Given the description of an element on the screen output the (x, y) to click on. 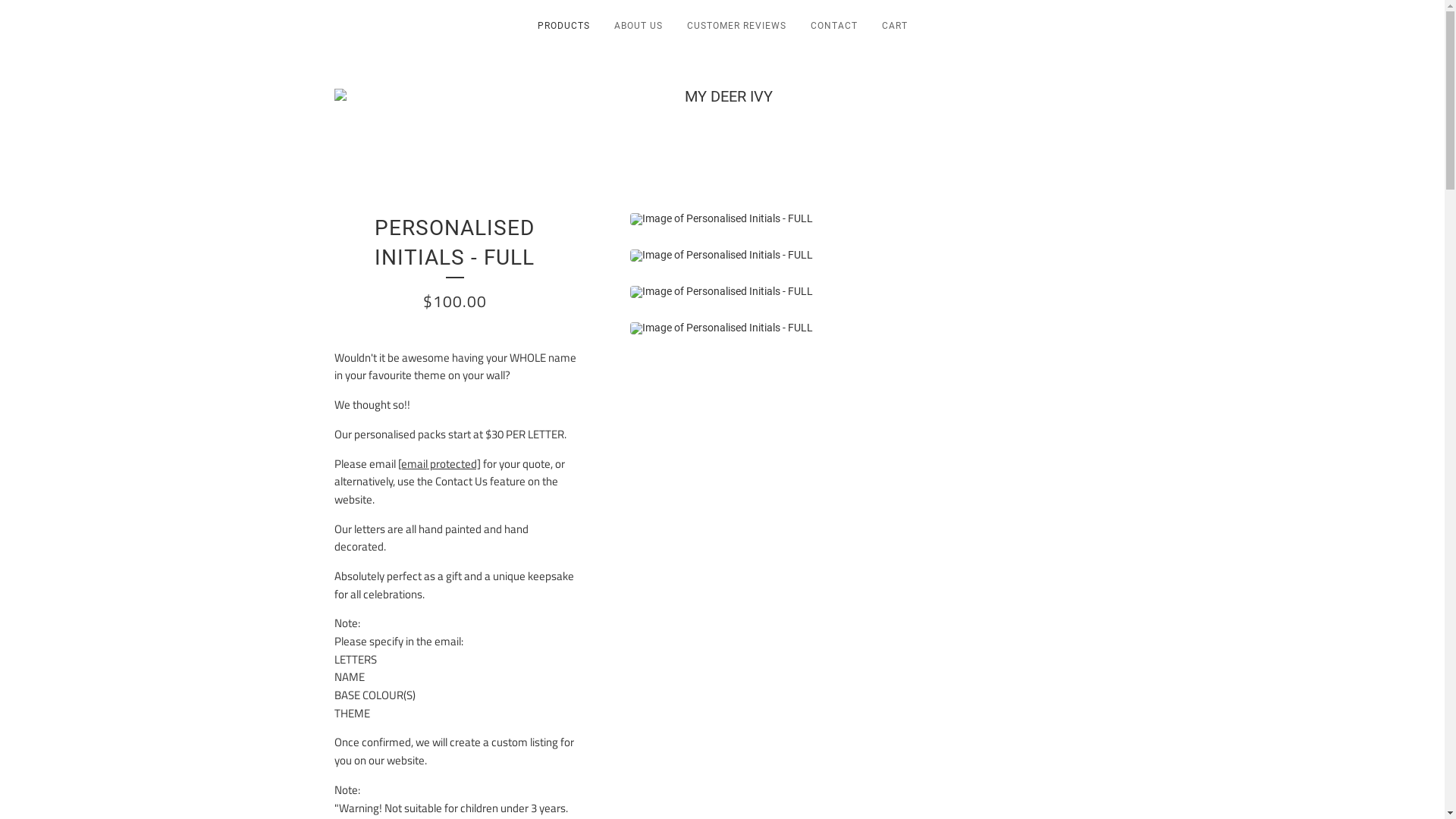
[email protected] Element type: text (438, 463)
PRODUCTS Element type: text (562, 29)
ABOUT US Element type: text (638, 29)
CUSTOMER REVIEWS Element type: text (736, 29)
CART Element type: text (894, 29)
CONTACT Element type: text (833, 29)
Home Element type: hover (721, 95)
